Given the description of an element on the screen output the (x, y) to click on. 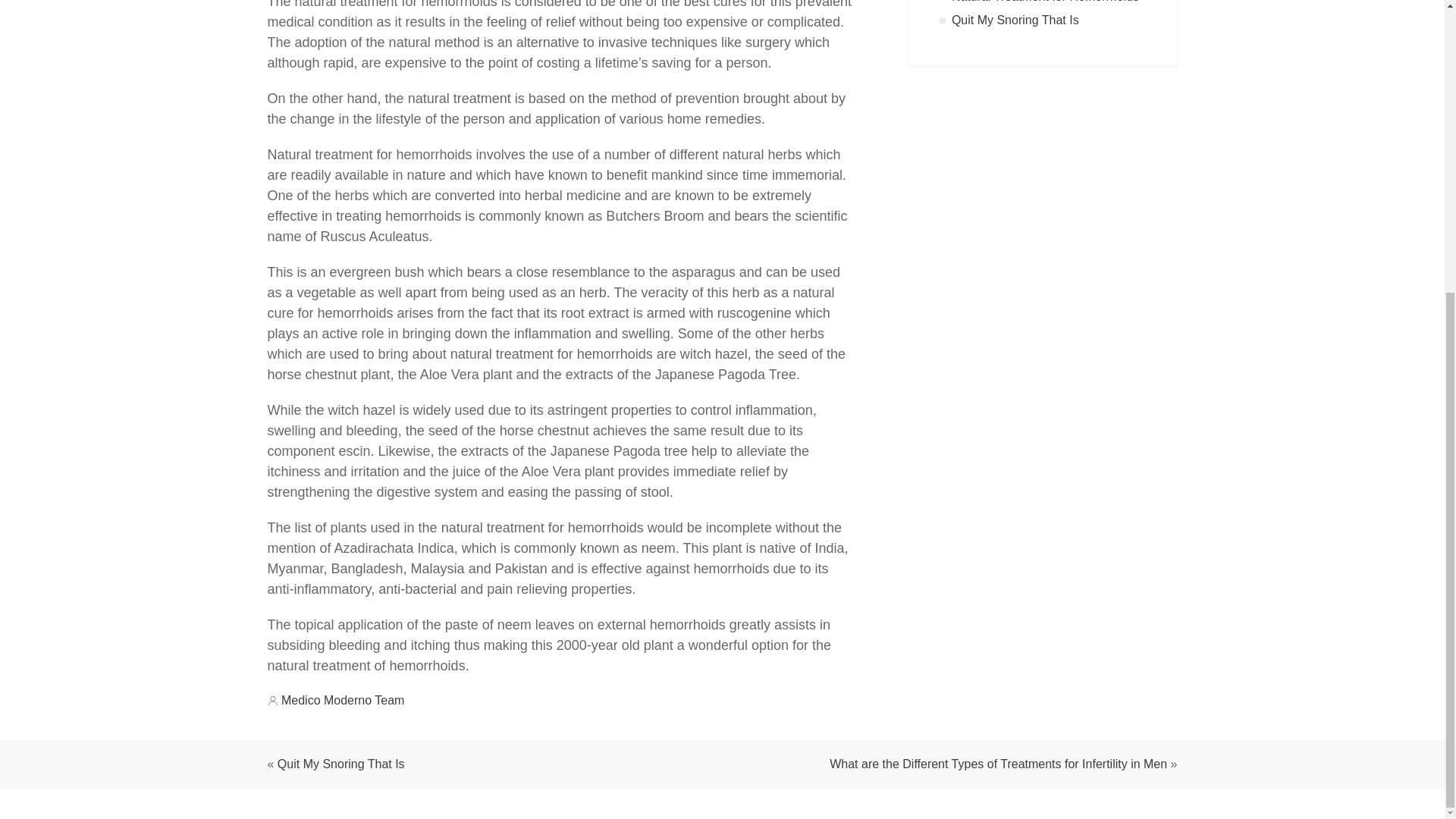
Quit My Snoring That Is (341, 763)
Quit My Snoring That Is (1015, 19)
Medico Moderno Team (342, 699)
Natural Treatment for Hemorrhoids (1045, 1)
